Given the description of an element on the screen output the (x, y) to click on. 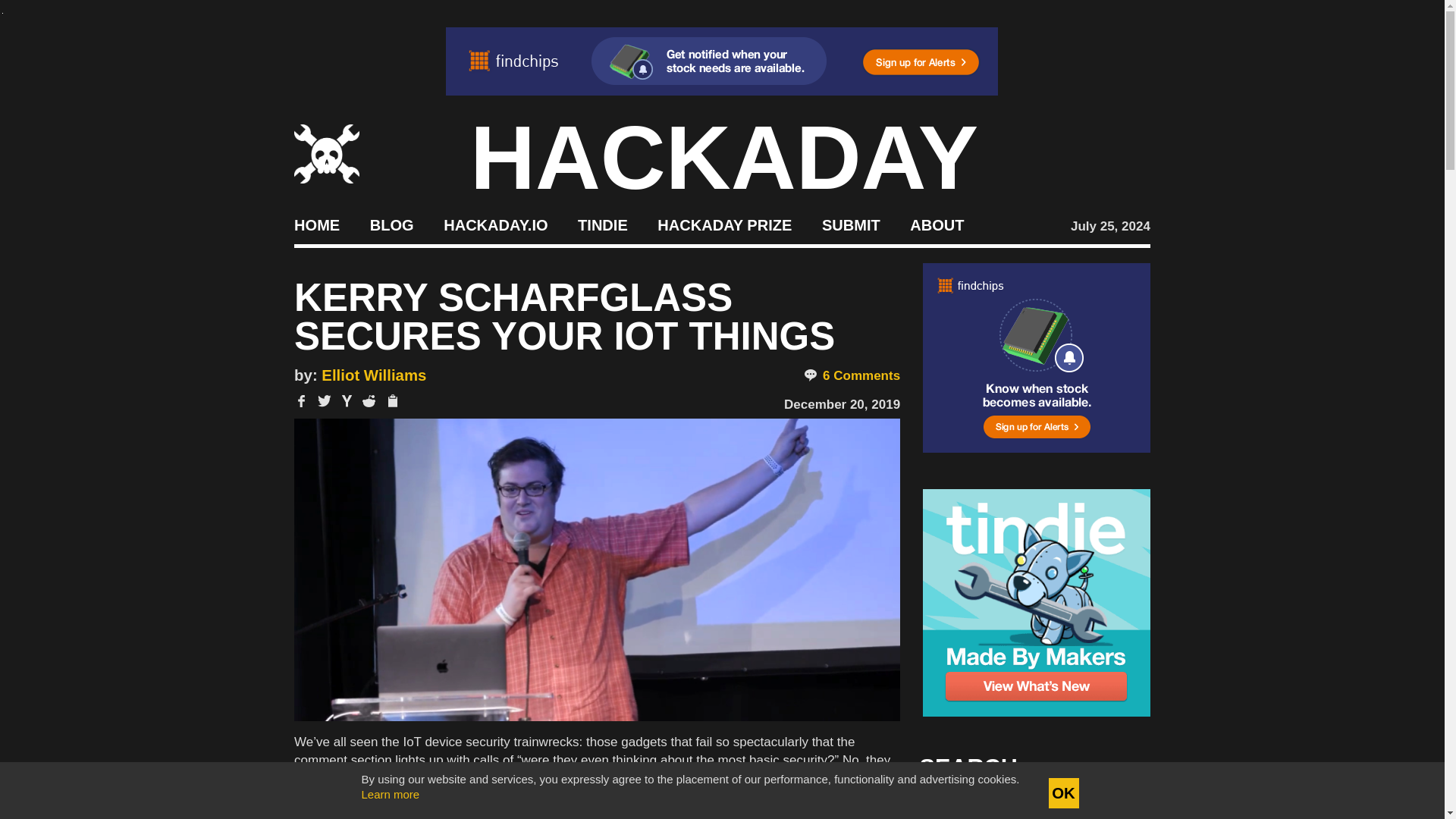
Elliot Williams (373, 375)
Share on Facebook (301, 400)
December 20, 2019 - 11:31 am (841, 404)
6 Comments (851, 376)
Posts by Elliot Williams (373, 375)
Copy title or shortlink (391, 401)
HACKADAY (724, 157)
SUBMIT (851, 224)
Search (1115, 808)
ABOUT (936, 224)
HOME (316, 224)
HACKADAY PRIZE (725, 224)
TINDIE (602, 224)
Share on Twitter (324, 400)
Search (1115, 808)
